Given the description of an element on the screen output the (x, y) to click on. 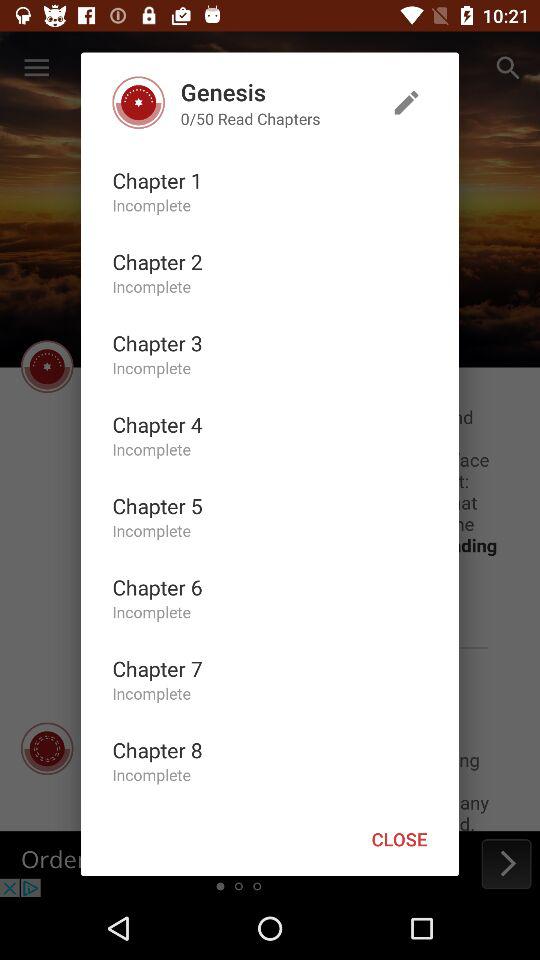
turn on item below incomplete item (157, 261)
